Given the description of an element on the screen output the (x, y) to click on. 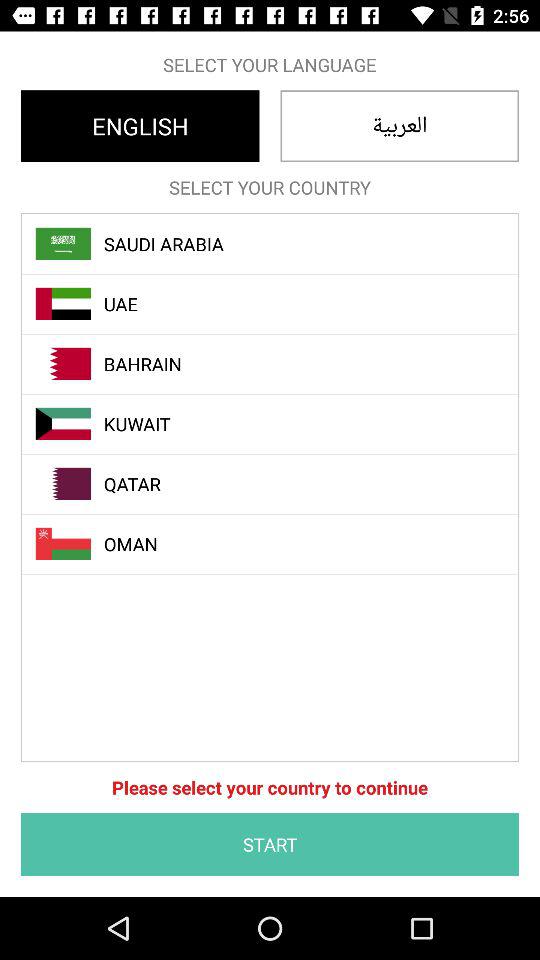
tap oman icon (281, 543)
